Given the description of an element on the screen output the (x, y) to click on. 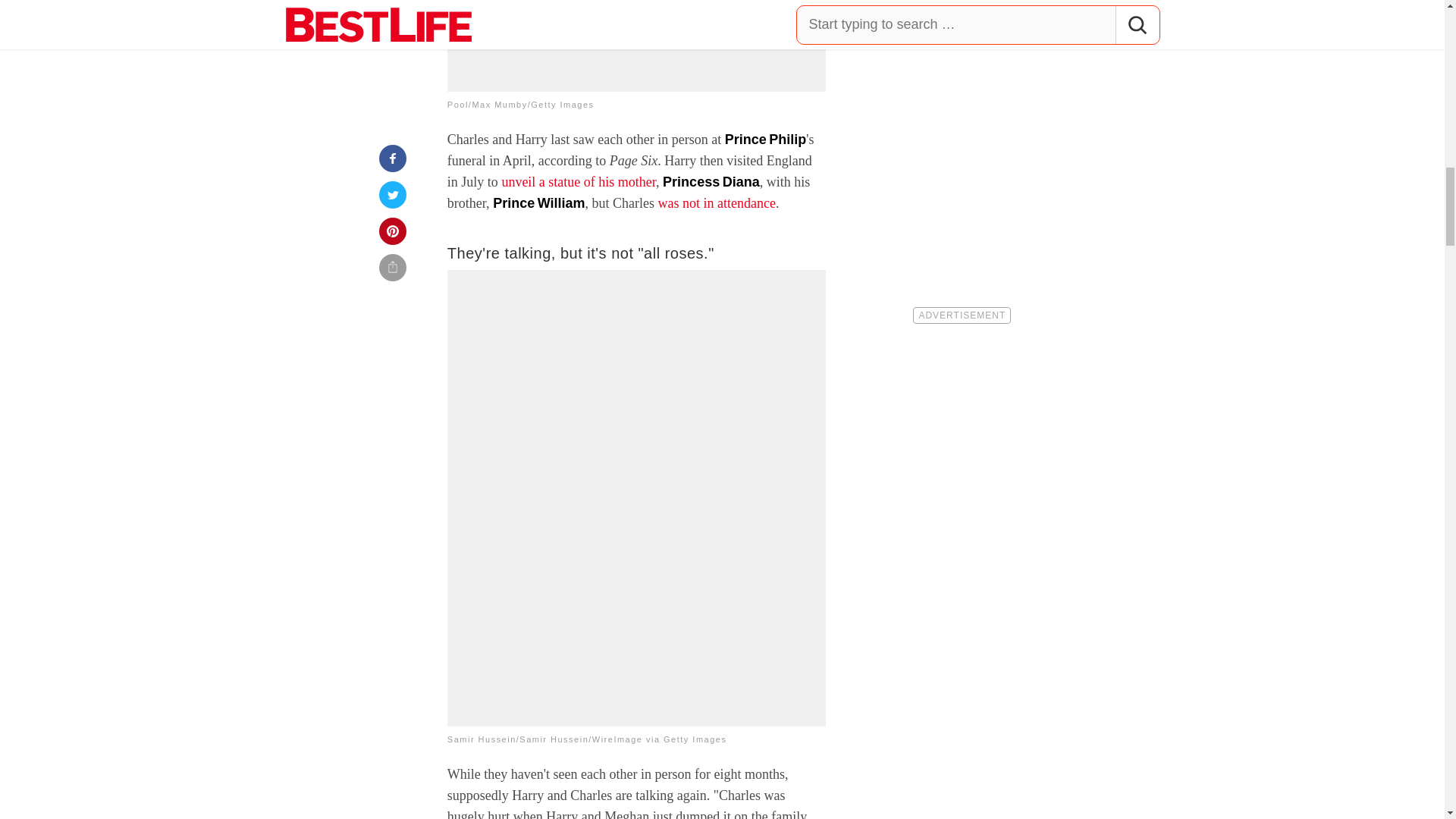
unveil a statue of his mother (578, 181)
was not in attendance (717, 202)
